Given the description of an element on the screen output the (x, y) to click on. 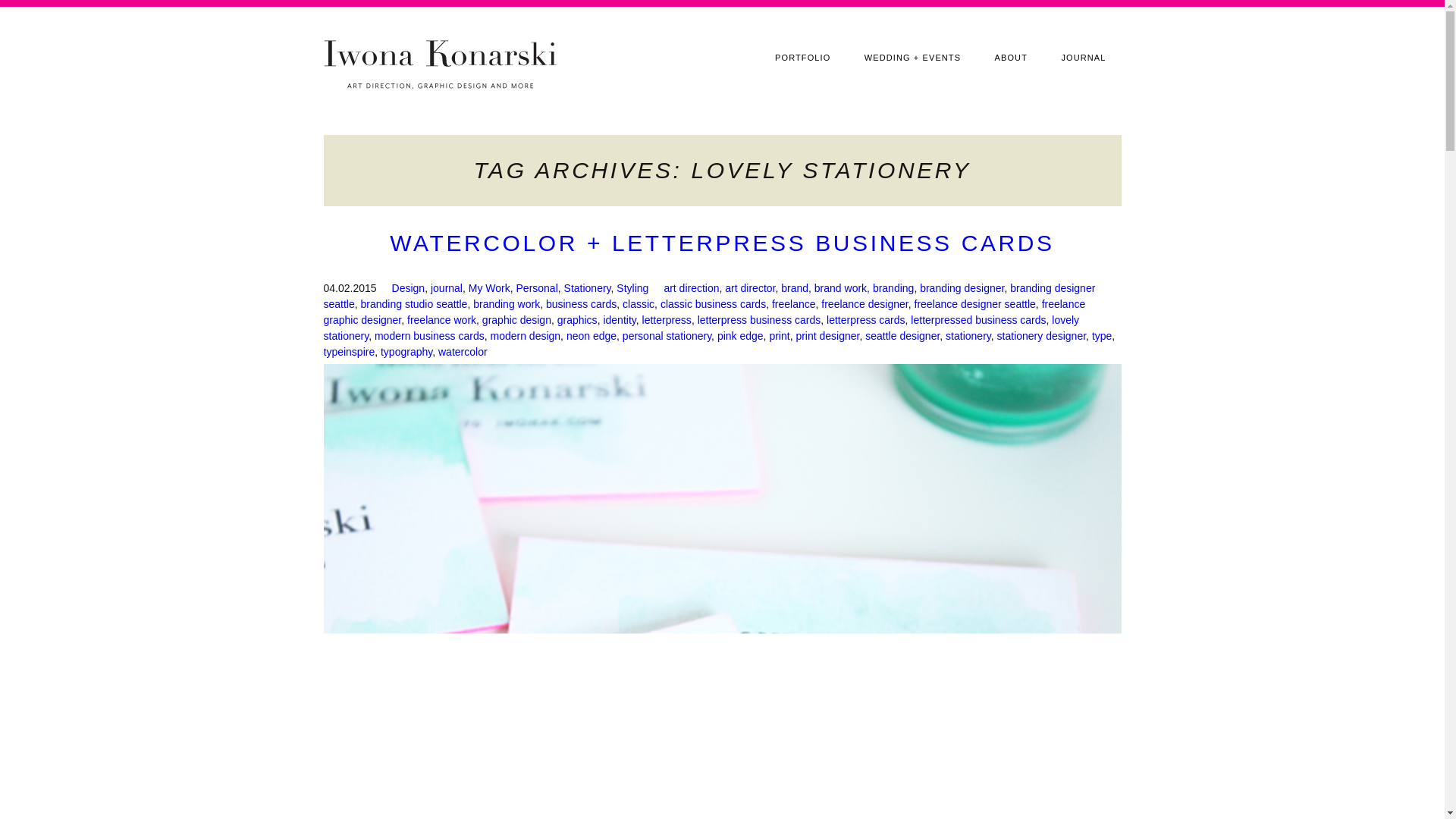
Styling (631, 287)
ABOUT (1010, 57)
letterpress business cards (759, 319)
letterpress cards (865, 319)
brand (794, 287)
brand work (839, 287)
branding studio seattle (414, 303)
identity (618, 319)
journal (446, 287)
Personal (536, 287)
freelance work (441, 319)
graphics (576, 319)
classic business cards (713, 303)
letterpressed business cards (978, 319)
graphic design (516, 319)
